Given the description of an element on the screen output the (x, y) to click on. 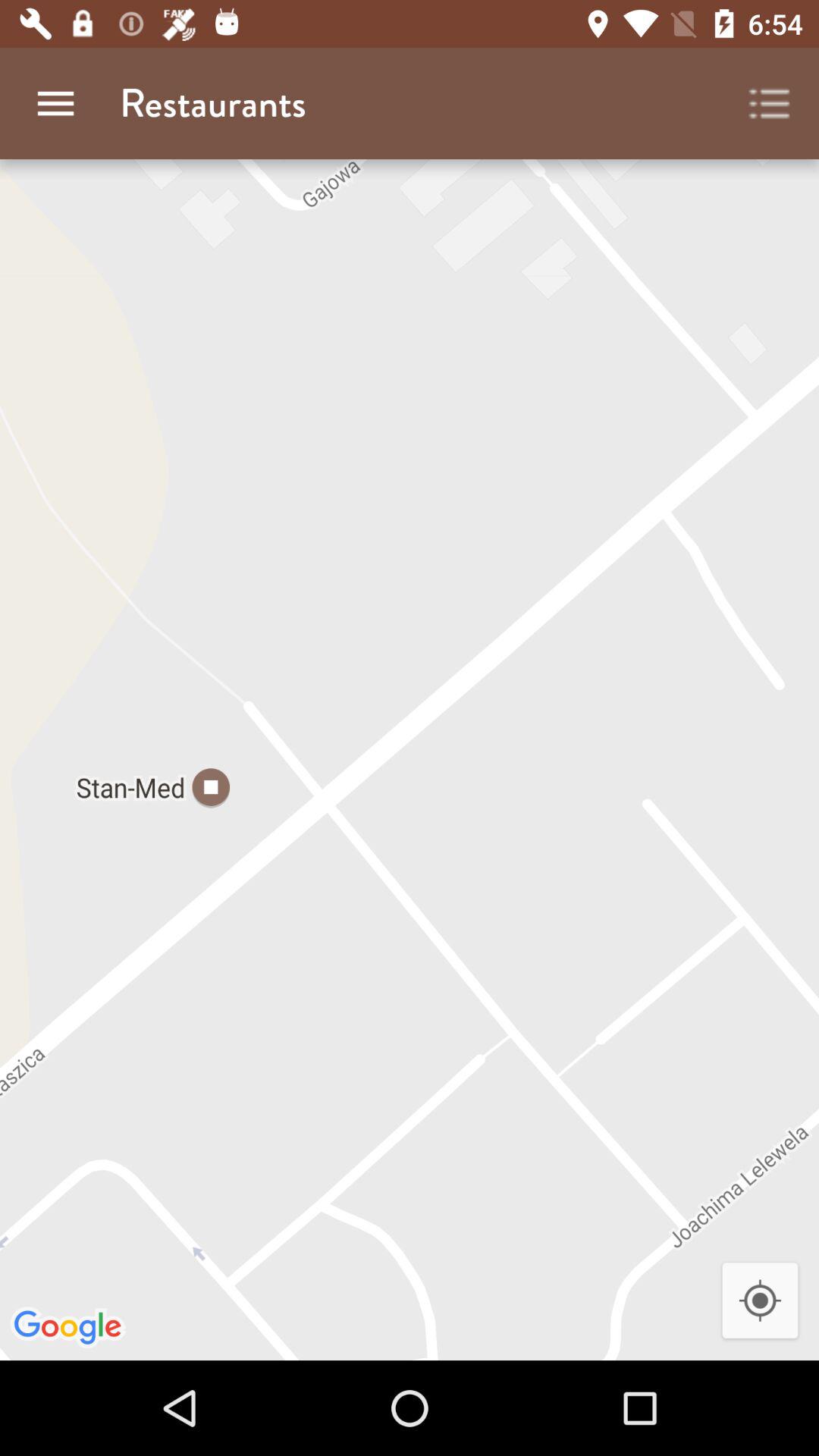
open item at the top right corner (770, 103)
